Given the description of an element on the screen output the (x, y) to click on. 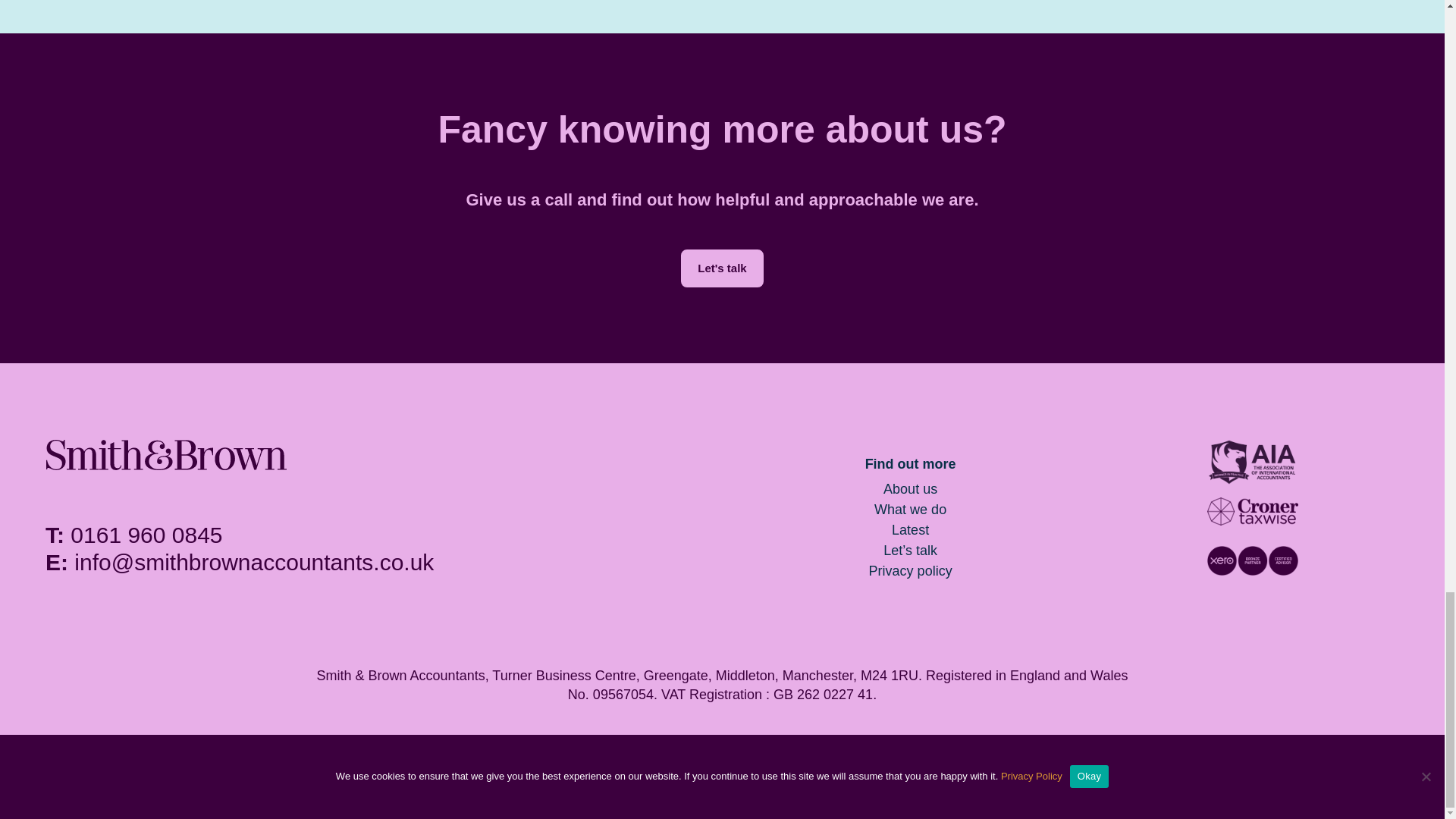
Let's talk (721, 268)
